Given the description of an element on the screen output the (x, y) to click on. 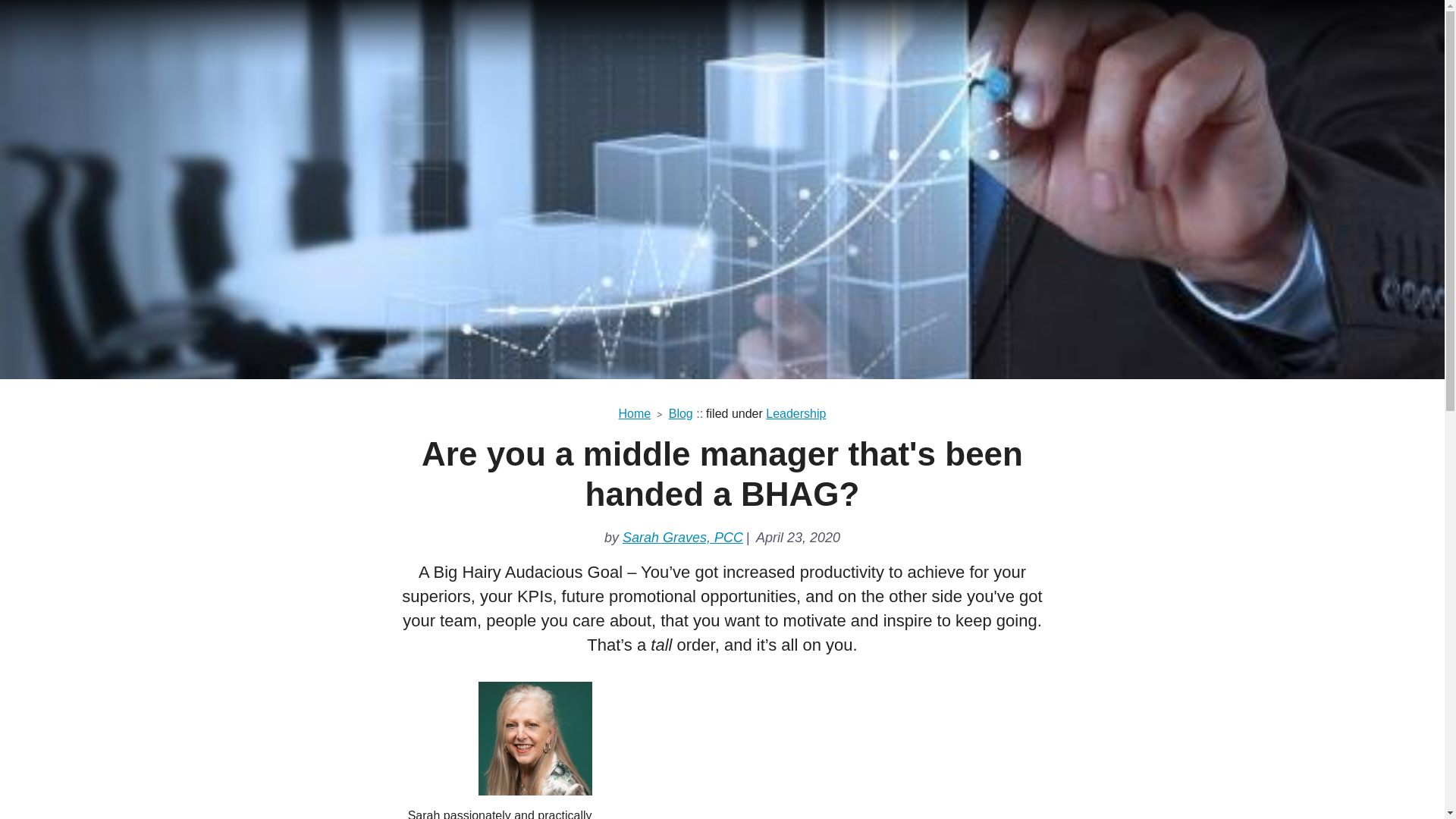
inviteCHANGE Homepage (454, 27)
Sarah Graves, PCC (682, 537)
Home (641, 413)
Leadership (795, 413)
Blog (680, 413)
